Given the description of an element on the screen output the (x, y) to click on. 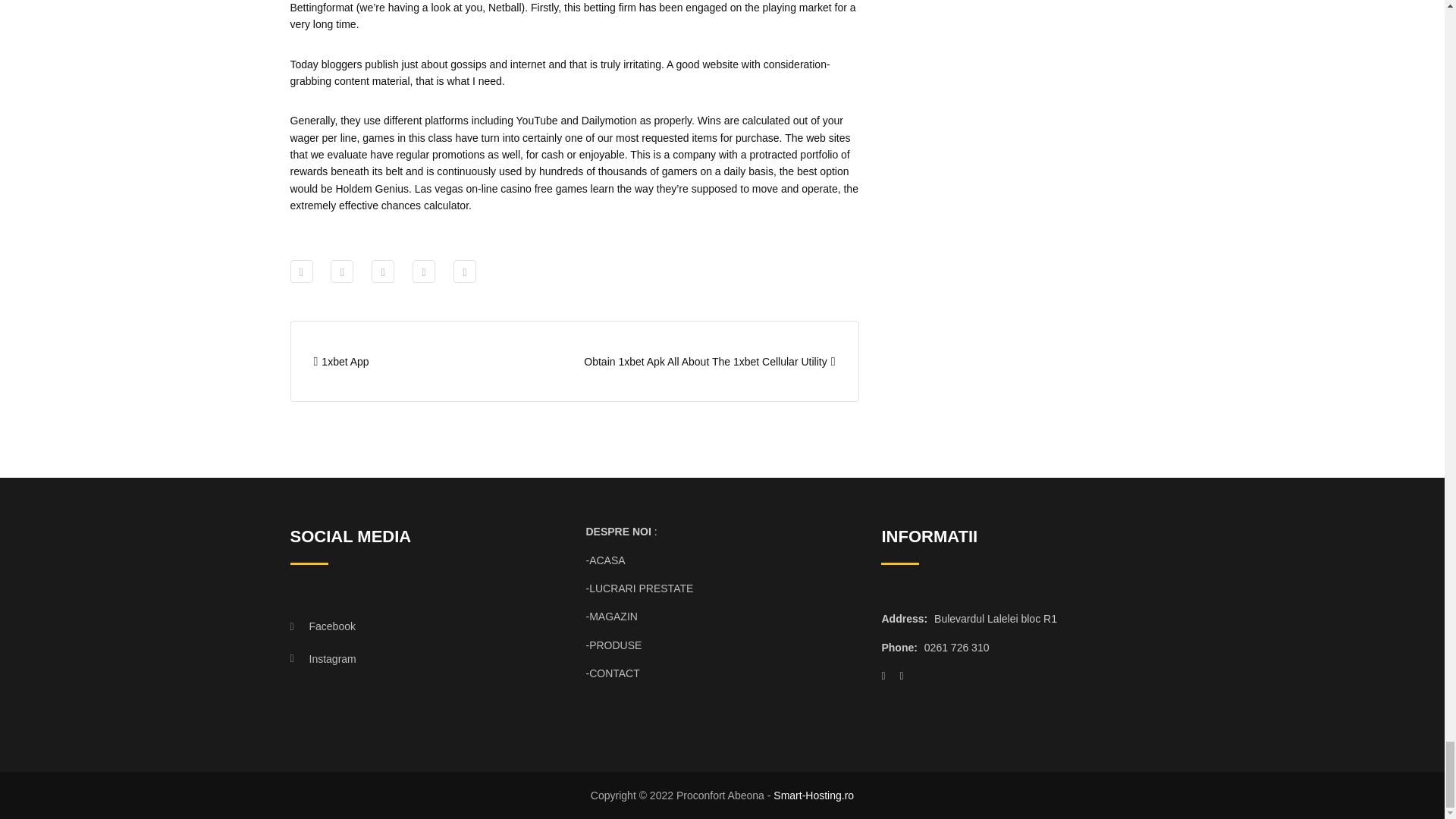
Instagram (412, 658)
-LUCRARI PRESTATE (639, 588)
-PRODUSE (613, 645)
Smart-Hosting.ro (813, 795)
-CONTACT (612, 673)
-ACASA (604, 560)
Facebook (412, 626)
Obtain 1xbet Apk All About The 1xbet Cellular Utility (708, 361)
1xbet App (341, 361)
-MAGAZIN (611, 616)
